Given the description of an element on the screen output the (x, y) to click on. 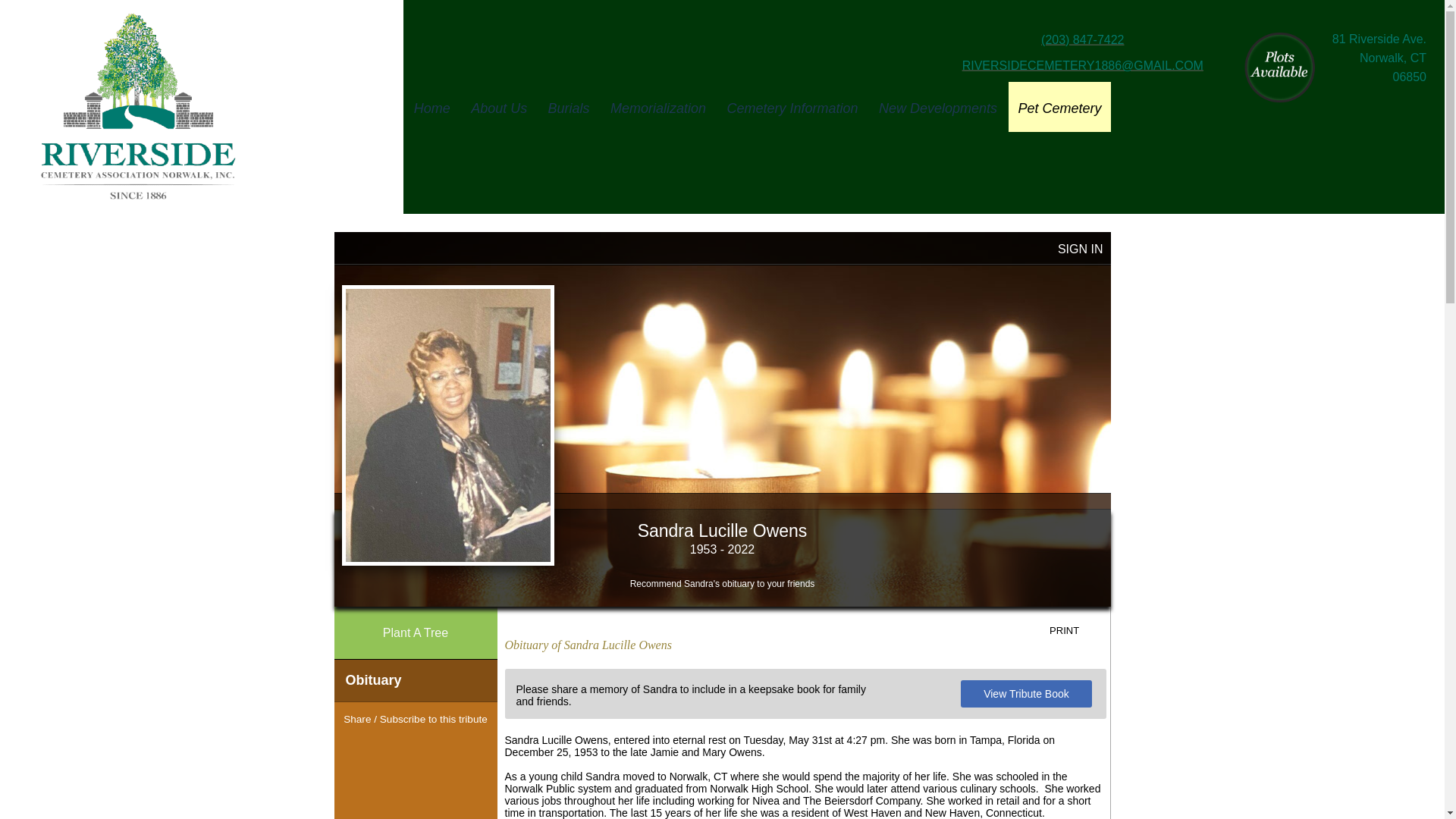
New Developments (937, 106)
Pet Cemetery (1059, 106)
Cemetery Information (792, 106)
Print (1075, 630)
PRINT (1075, 630)
About Us (499, 106)
Facebook (387, 748)
Home (432, 106)
Memorialization (656, 106)
Obituary (414, 680)
